Given the description of an element on the screen output the (x, y) to click on. 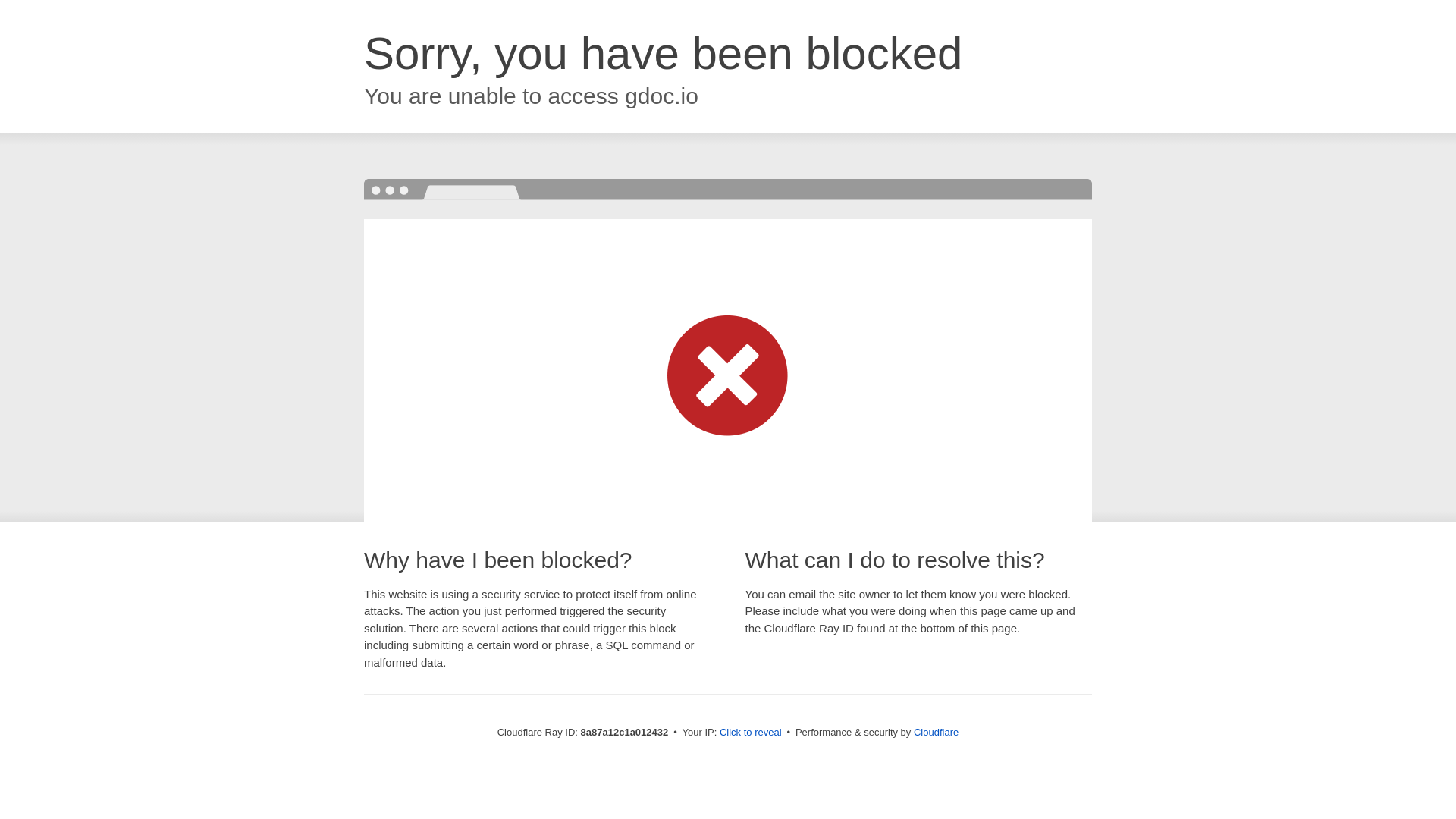
Cloudflare (936, 731)
Click to reveal (750, 732)
